Given the description of an element on the screen output the (x, y) to click on. 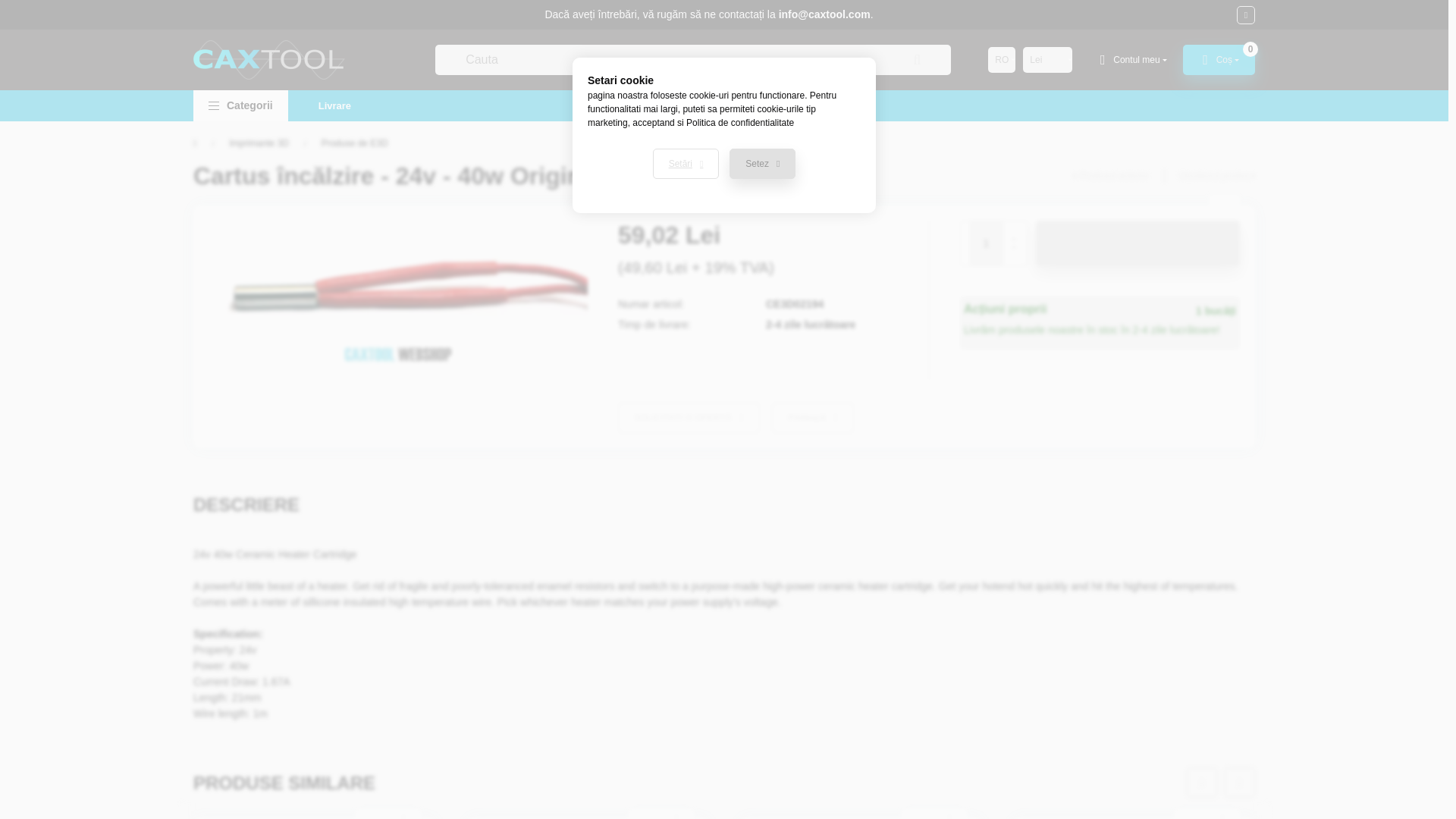
Produsul anterior (1110, 175)
Contul meu (1131, 60)
Produsul anterior (1110, 175)
Livrare (334, 105)
Categorii (240, 105)
Imprimante 3D (258, 142)
Produse de E3D (354, 142)
